Given the description of an element on the screen output the (x, y) to click on. 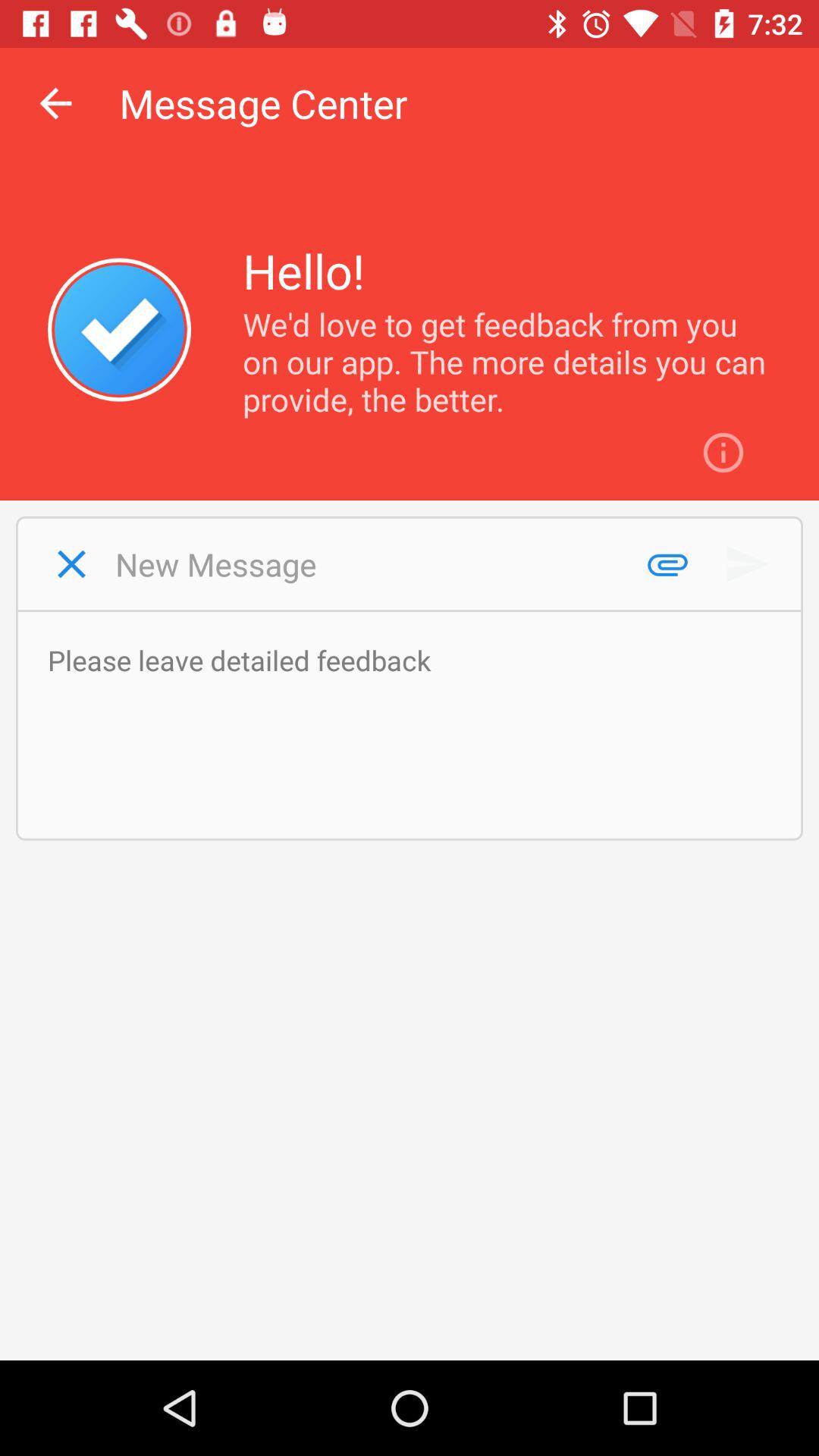
leave feedback (417, 724)
